Given the description of an element on the screen output the (x, y) to click on. 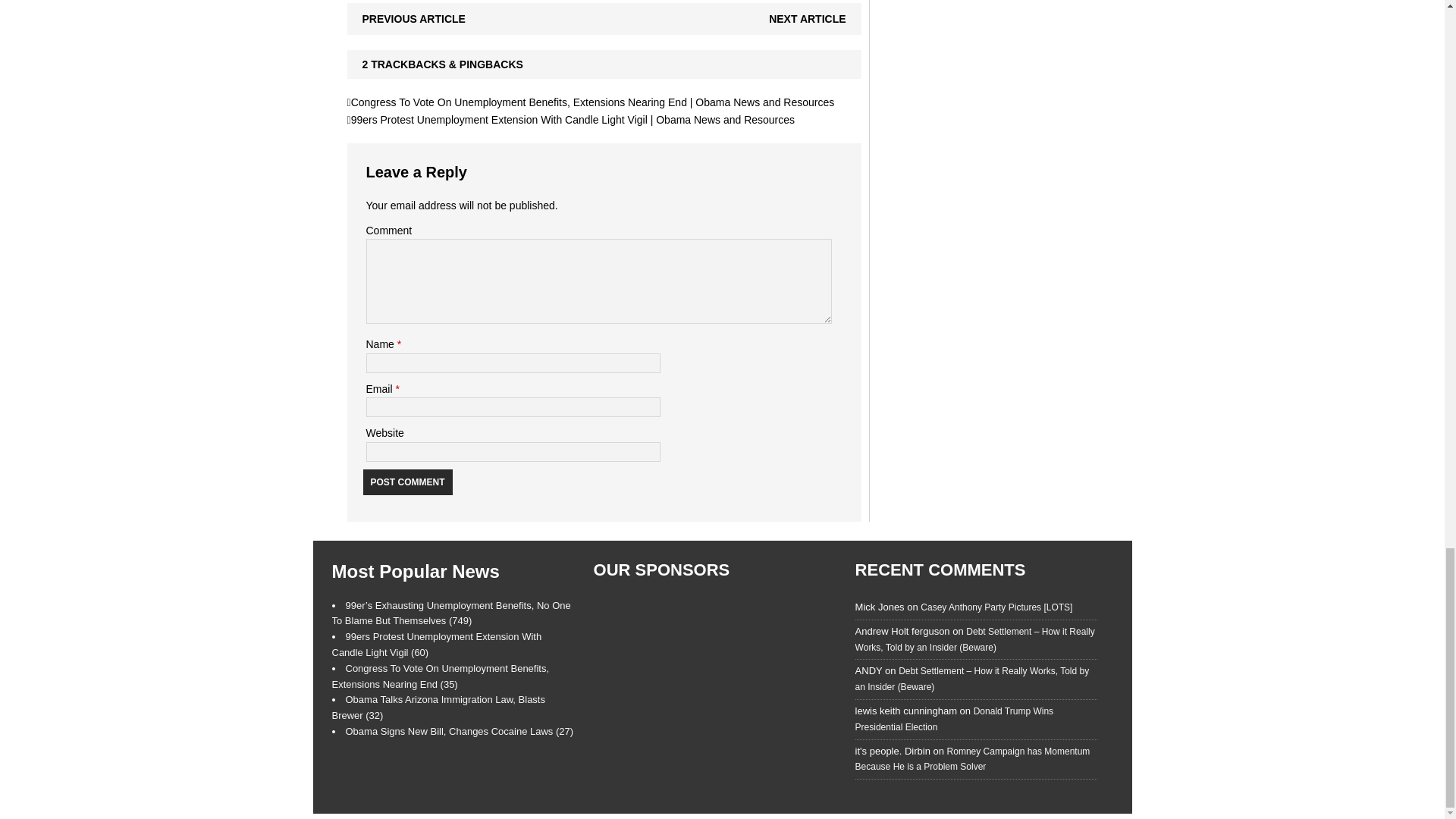
NEXT ARTICLE (806, 19)
Obama Talks Arizona Immigration Law, Blasts Brewer (438, 707)
Obama Signs New Bill, Changes Cocaine Laws (459, 731)
PREVIOUS ARTICLE (413, 19)
Post Comment (406, 481)
Post Comment (406, 481)
99ers Protest Unemployment Extension With Candle Light Vigil (436, 644)
